Given the description of an element on the screen output the (x, y) to click on. 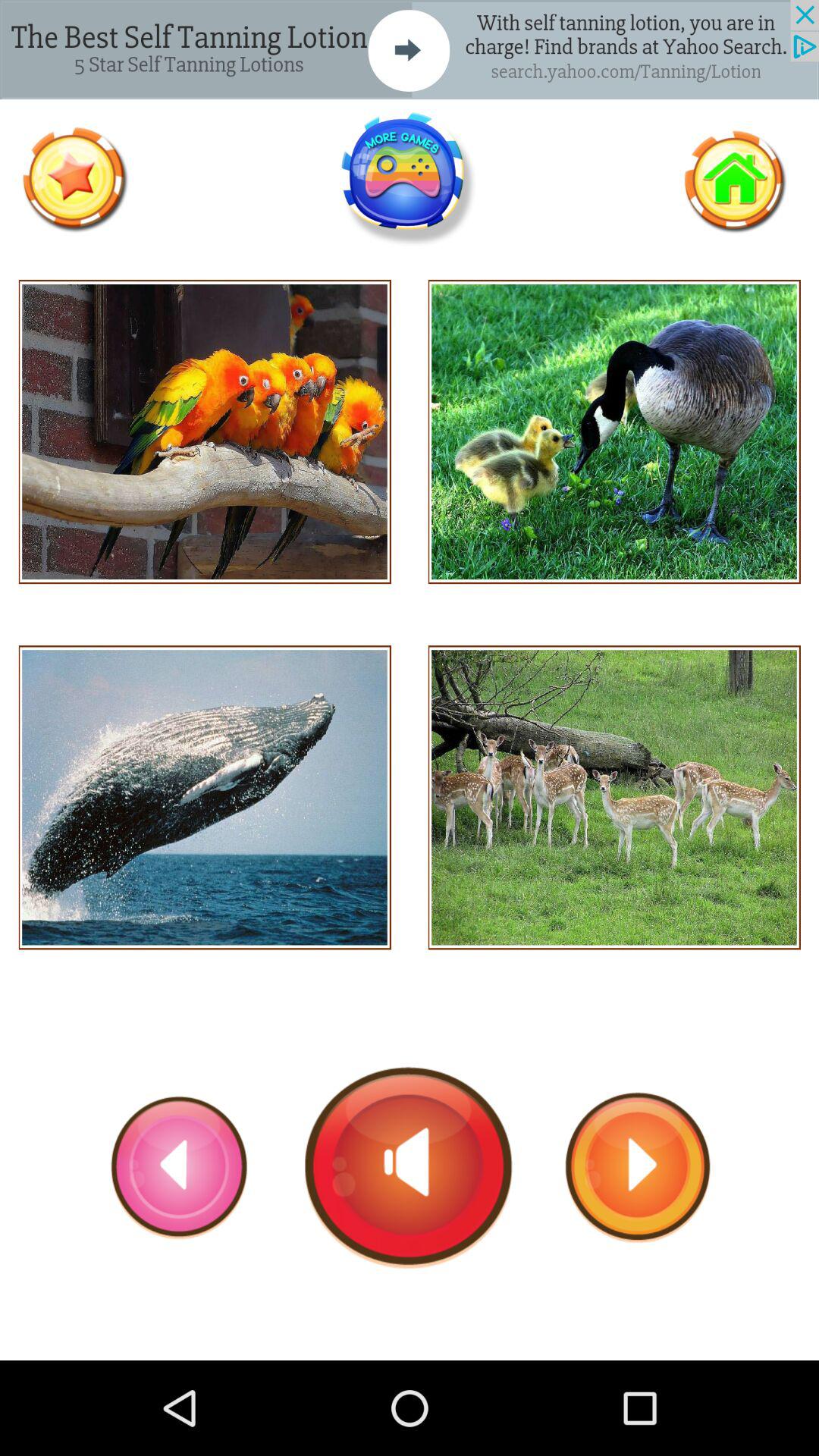
select photo (204, 431)
